Given the description of an element on the screen output the (x, y) to click on. 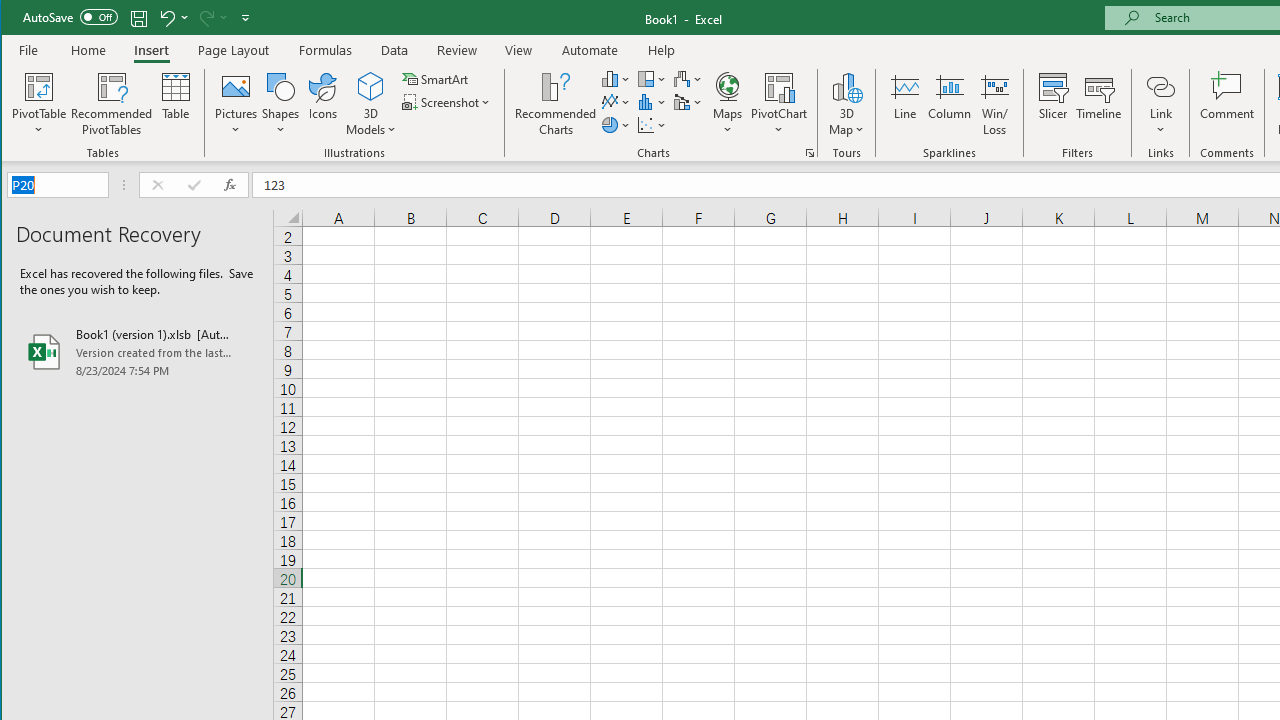
Insert Waterfall, Funnel, Stock, Surface, or Radar Chart (688, 78)
Maps (727, 104)
Slicer... (1052, 104)
PivotChart (779, 104)
Insert Hierarchy Chart (652, 78)
Insert Scatter (X, Y) or Bubble Chart (652, 124)
Table (175, 104)
3D Models (371, 86)
Pictures (235, 104)
PivotTable (39, 104)
